Given the description of an element on the screen output the (x, y) to click on. 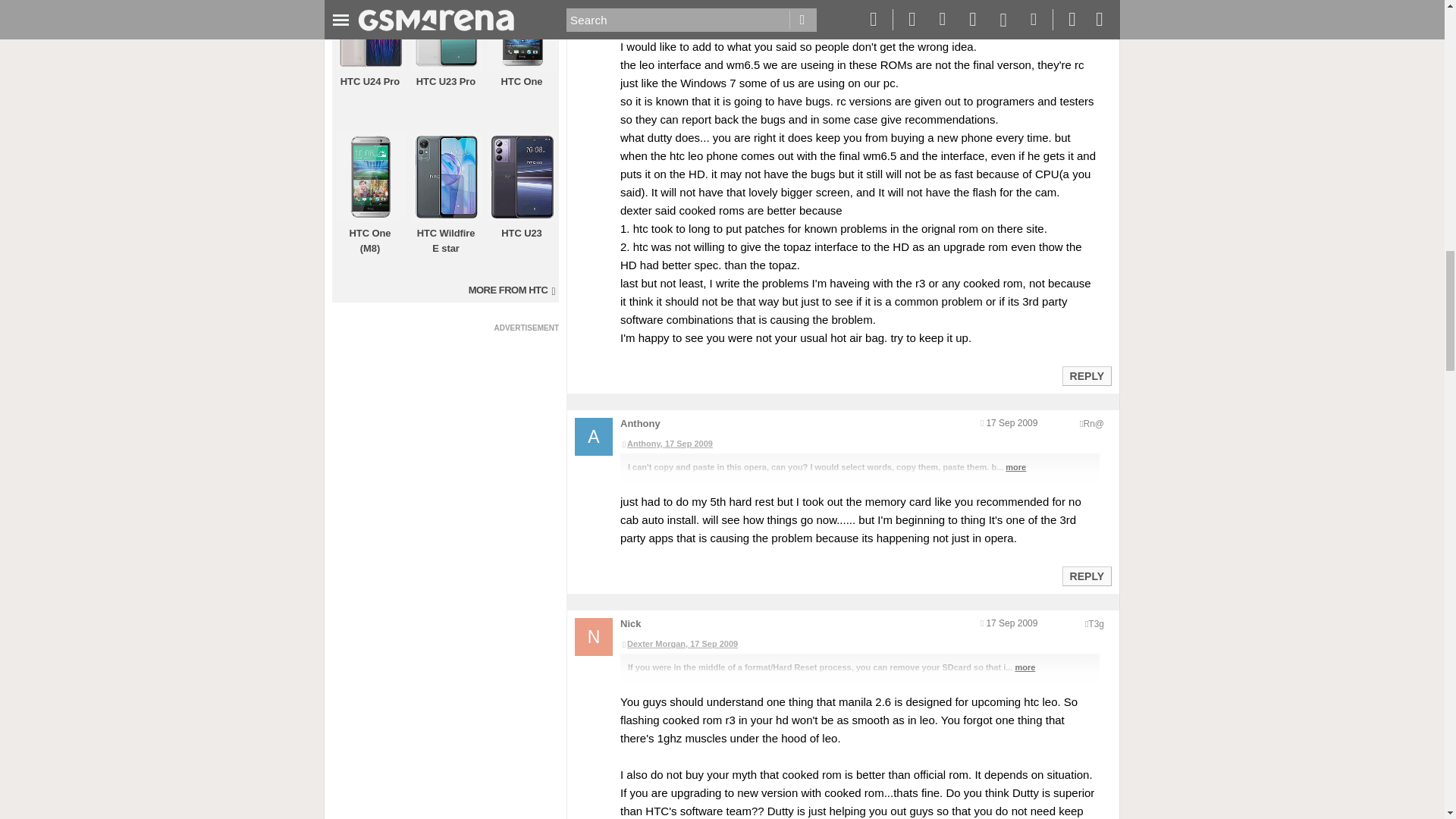
Reply to this post (1086, 376)
Reply to this post (1086, 576)
Encoded anonymized location (1095, 624)
Encoded anonymized location (1093, 423)
